Given the description of an element on the screen output the (x, y) to click on. 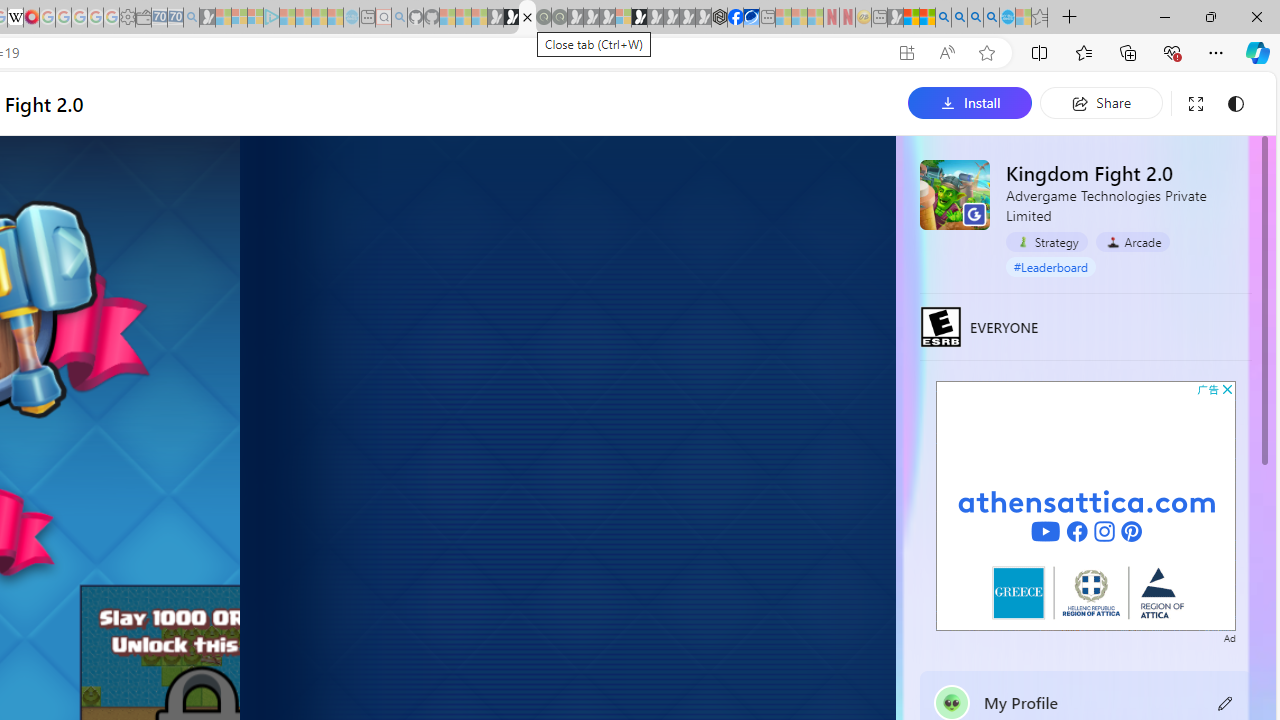
EVERYONE (941, 326)
Bing Real Estate - Home sales and rental listings - Sleeping (191, 17)
github - Search - Sleeping (399, 17)
Nordace | Facebook (735, 17)
Nordace - Cooler Bags (719, 17)
#Leaderboard (1051, 267)
